Given the description of an element on the screen output the (x, y) to click on. 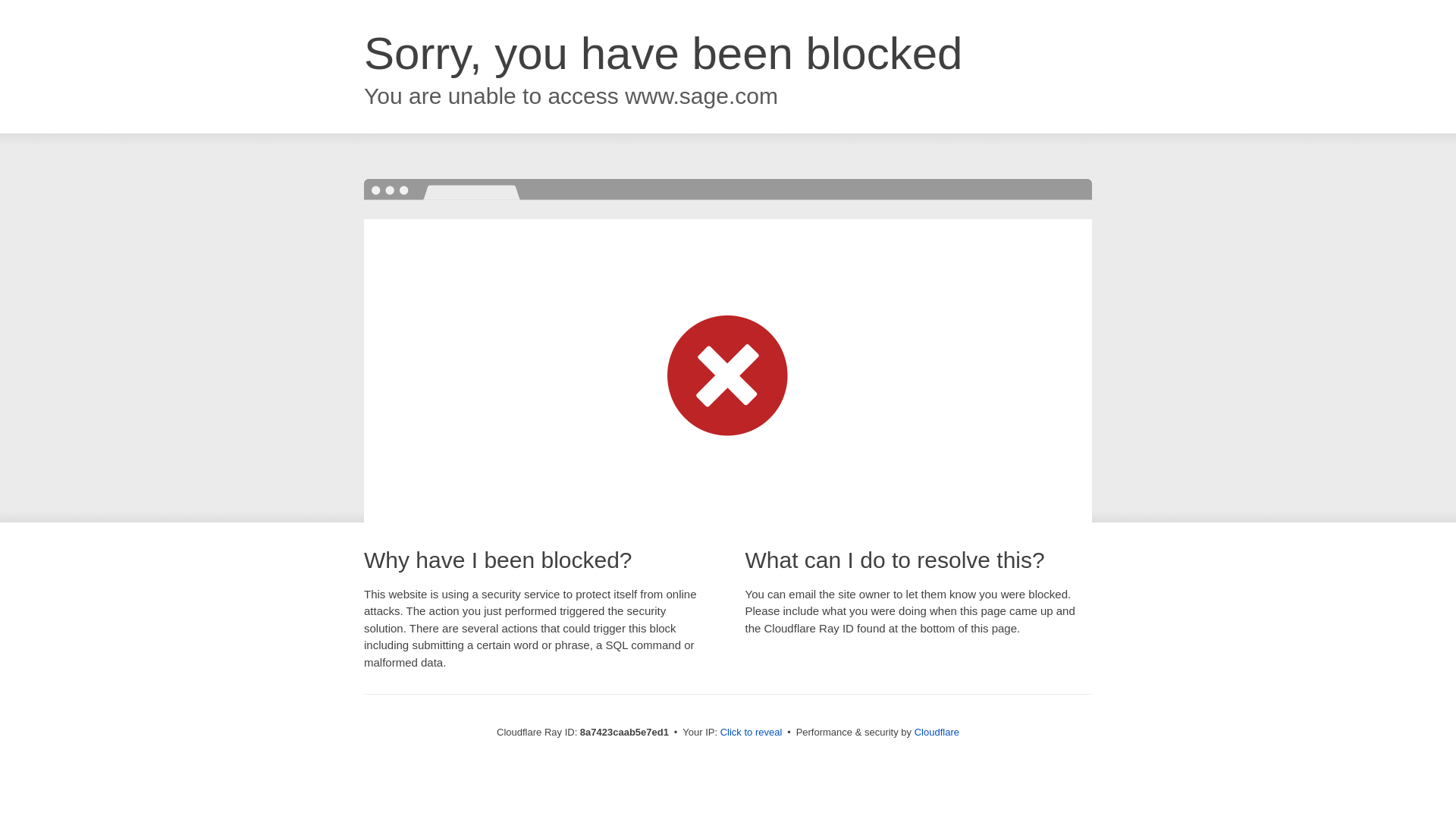
Click to reveal (751, 732)
Cloudflare (936, 731)
